Given the description of an element on the screen output the (x, y) to click on. 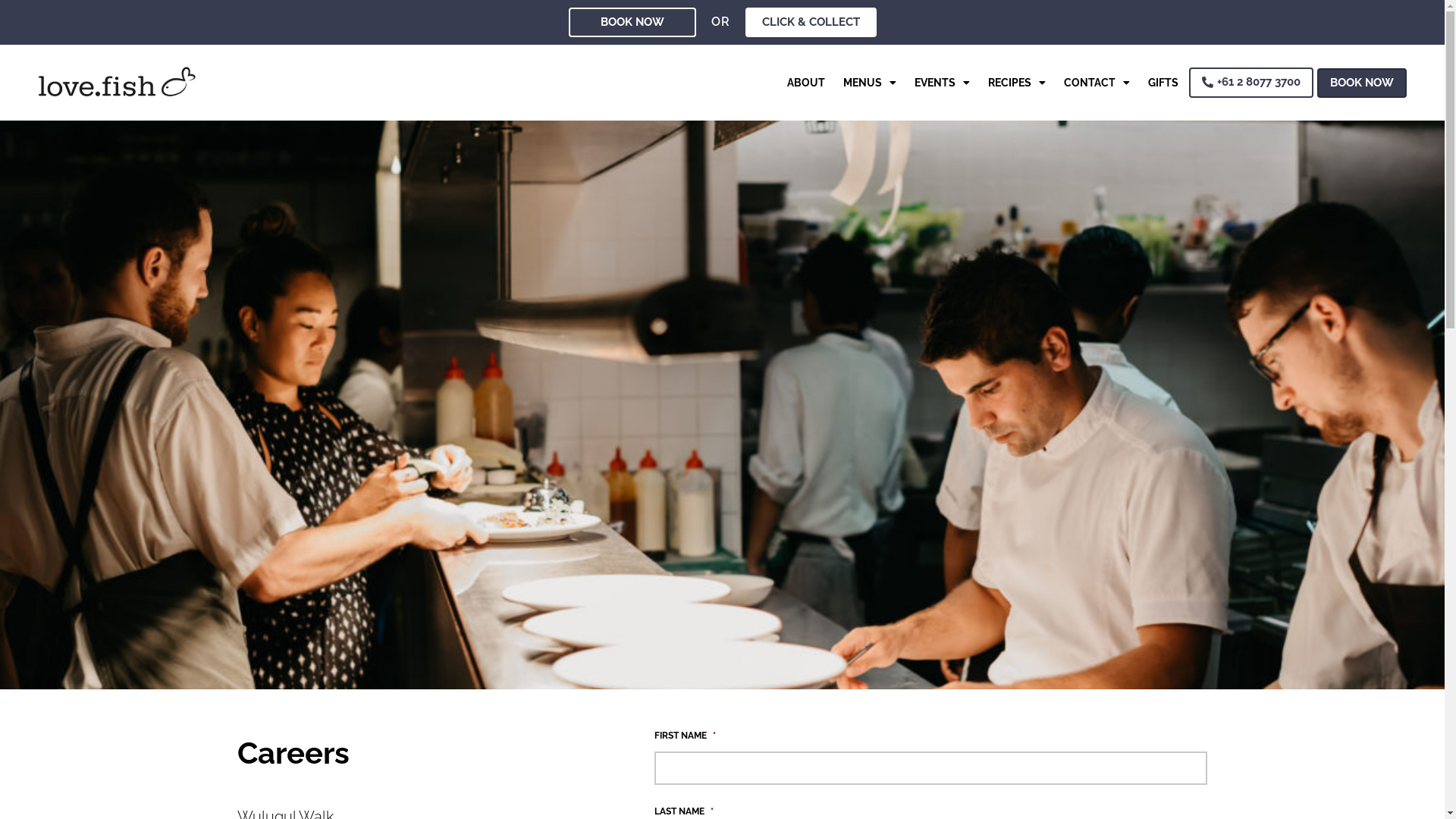
CONTACT Element type: text (1096, 82)
BOOK NOW Element type: text (632, 22)
CLICK & COLLECT Element type: text (809, 22)
MENUS Element type: text (869, 82)
+61 2 8077 3700 Element type: text (1251, 82)
RECIPES Element type: text (1016, 82)
BOOK NOW Element type: text (1361, 82)
GIFTS Element type: text (1163, 82)
EVENTS Element type: text (941, 82)
ABOUT Element type: text (806, 82)
